Given the description of an element on the screen output the (x, y) to click on. 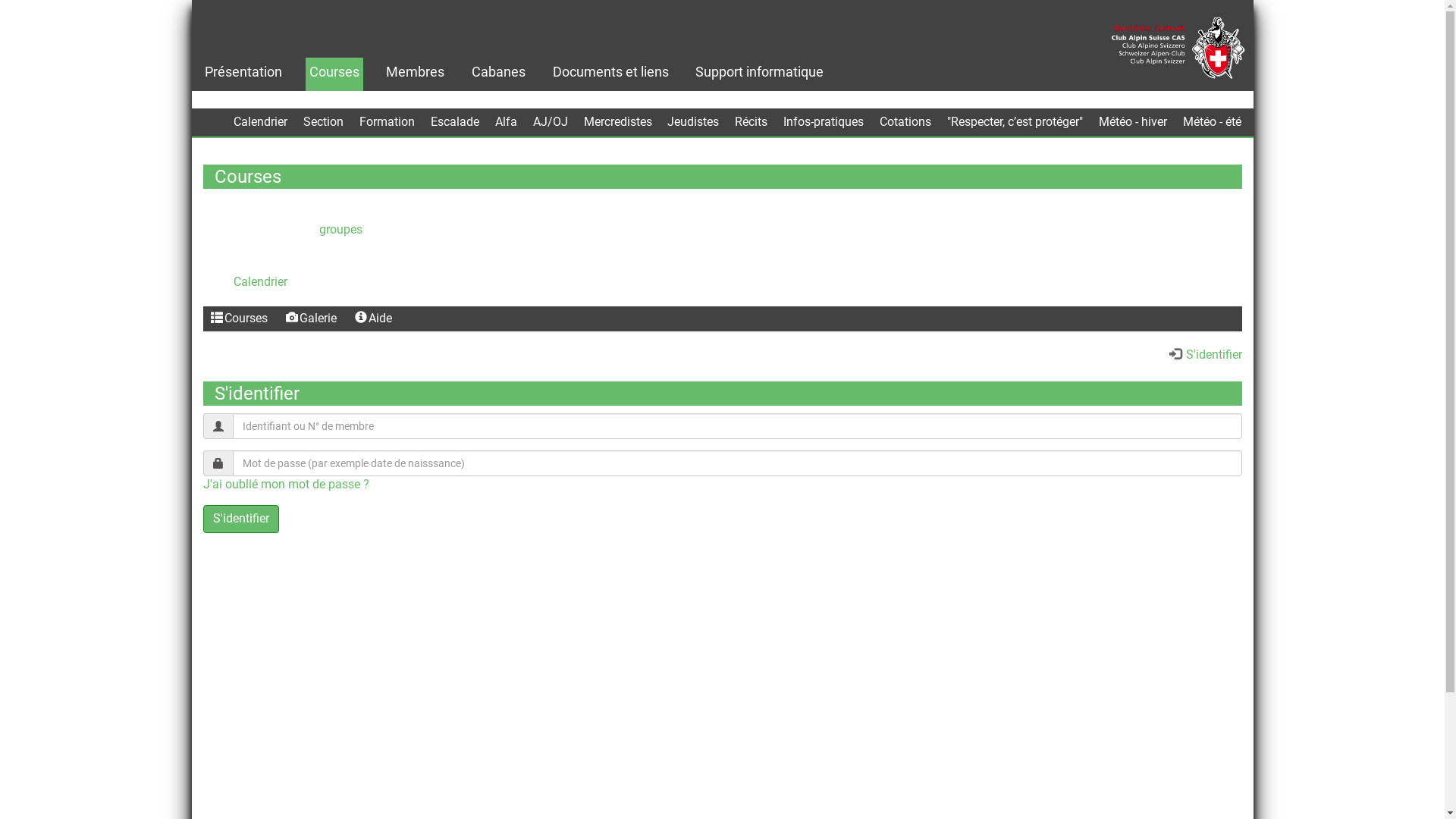
Alfa Element type: text (506, 121)
Jeudistes Element type: text (692, 121)
Alfa Element type: text (506, 122)
Membres Element type: text (415, 72)
Courses Element type: text (334, 71)
Mercredistes Element type: text (617, 121)
AJ/OJ Element type: text (550, 121)
Formation Element type: text (386, 122)
Mercredistes Element type: text (617, 122)
Documents et liens Element type: text (610, 72)
Galerie Element type: text (310, 318)
AJ/OJ Element type: text (550, 122)
Escalade Element type: text (454, 121)
Infos-pratiques Element type: text (823, 122)
Aide Element type: text (373, 318)
Escalade Element type: text (454, 122)
Cabanes Element type: text (498, 72)
S'identifier Element type: text (241, 519)
Cotations Element type: text (905, 122)
Documents et liens Element type: text (610, 71)
Jeudistes Element type: text (692, 122)
Courses Element type: text (238, 318)
Section Element type: text (323, 122)
Calendrier Element type: text (260, 281)
Cabanes Element type: text (498, 71)
Courses Element type: hover (216, 317)
Support informatique Element type: text (759, 72)
Courses Element type: text (334, 72)
S'identifier Element type: text (1205, 354)
groupes Element type: text (339, 229)
Calendrier Element type: text (260, 122)
Formation Element type: text (386, 121)
Support informatique Element type: text (759, 71)
Membres Element type: text (414, 71)
Section Element type: text (323, 121)
Calendrier Element type: text (260, 121)
Infos-pratiques Element type: text (823, 121)
Cotations Element type: text (905, 121)
